Given the description of an element on the screen output the (x, y) to click on. 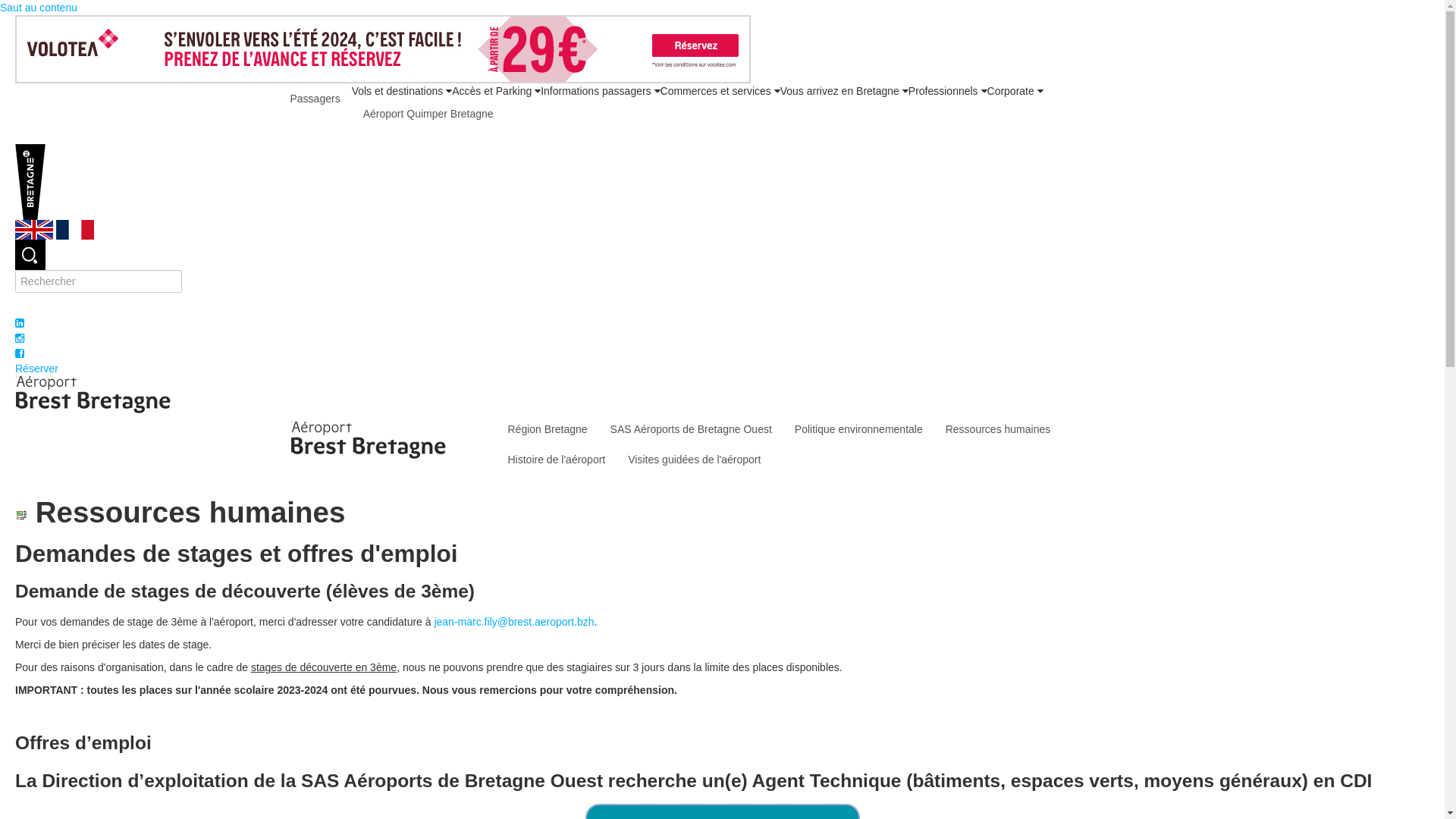
Politique environnementale Element type: text (858, 429)
Rechercher Element type: hover (30, 254)
Saut au contenu Element type: text (38, 7)
Ressources humaines Element type: text (998, 429)
jean-marc.fily@brest.aeroport.bzh Element type: text (513, 621)
Passagers Element type: text (315, 98)
English Element type: text (35, 228)
English Element type: hover (34, 229)
